Given the description of an element on the screen output the (x, y) to click on. 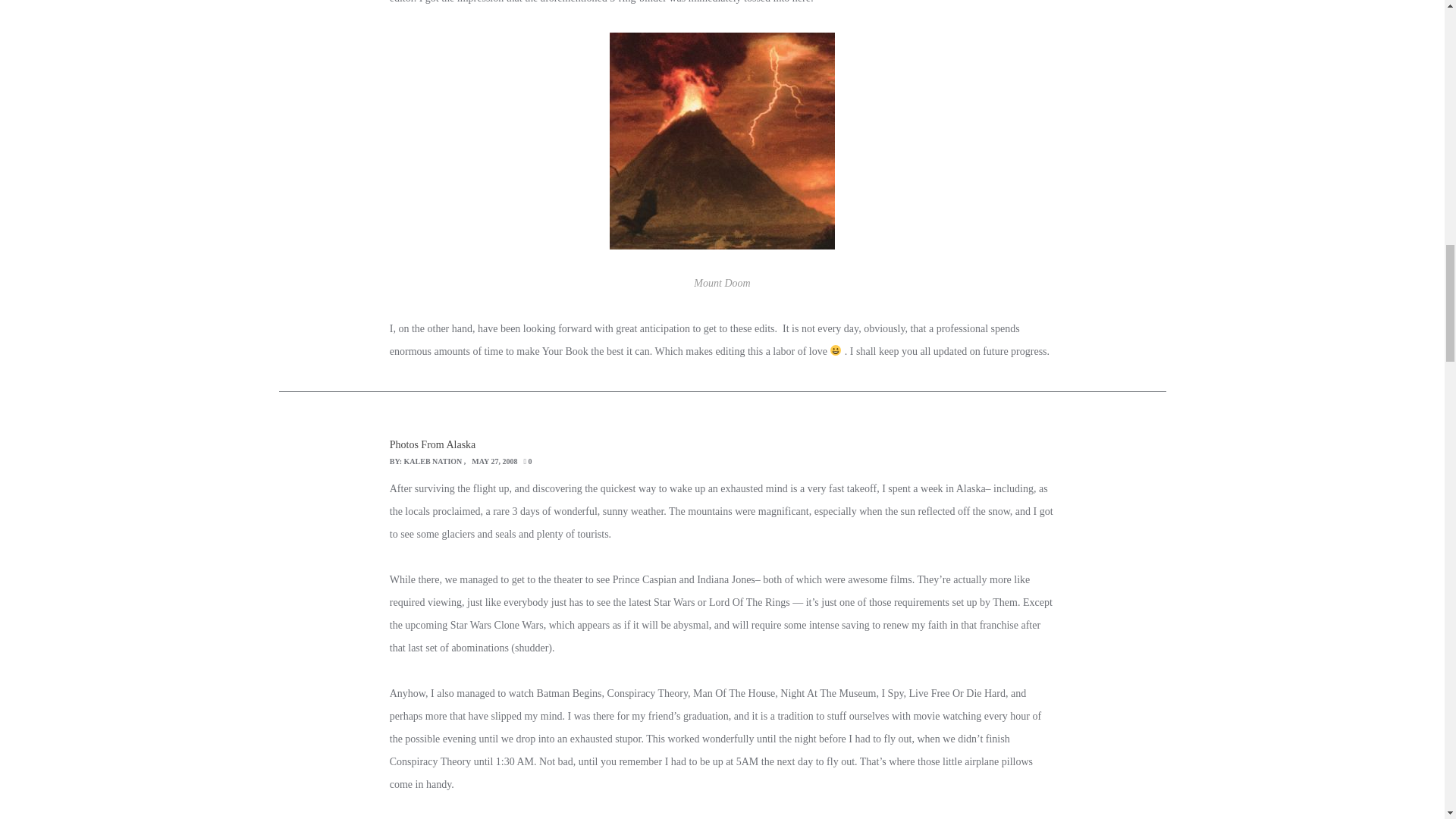
Posts by Kaleb Nation (433, 461)
Mount Doom (722, 139)
